Given the description of an element on the screen output the (x, y) to click on. 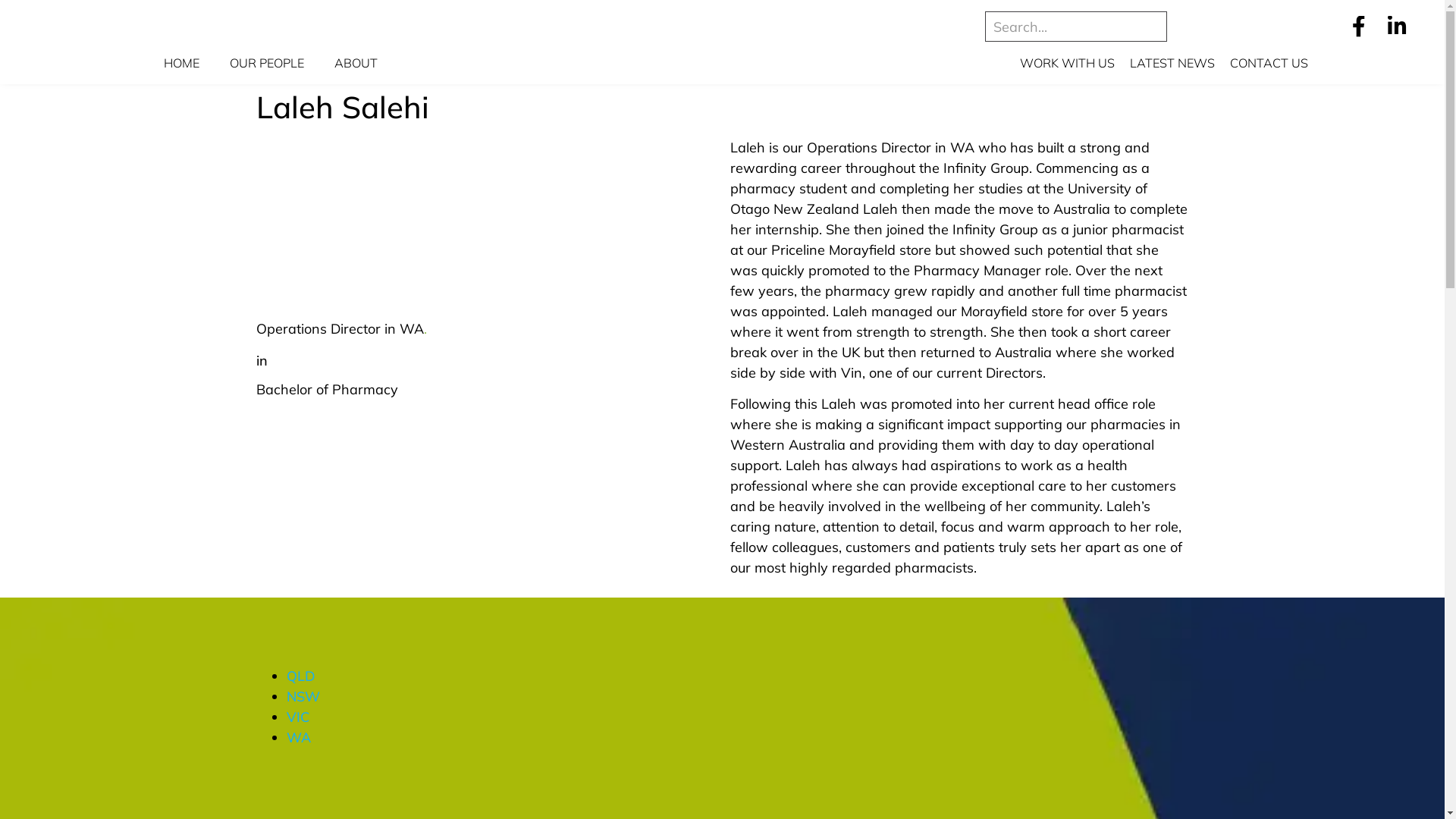
WORK WITH US Element type: text (1066, 62)
ABOUT Element type: text (355, 62)
HOME Element type: text (181, 62)
QLD Element type: text (300, 675)
VIC Element type: text (297, 716)
LATEST NEWS Element type: text (1171, 62)
in Element type: text (261, 360)
CONTACT US Element type: text (1269, 62)
OUR PEOPLE Element type: text (266, 62)
WA Element type: text (298, 737)
Search Element type: hover (1076, 26)
NSW Element type: text (303, 696)
